Given the description of an element on the screen output the (x, y) to click on. 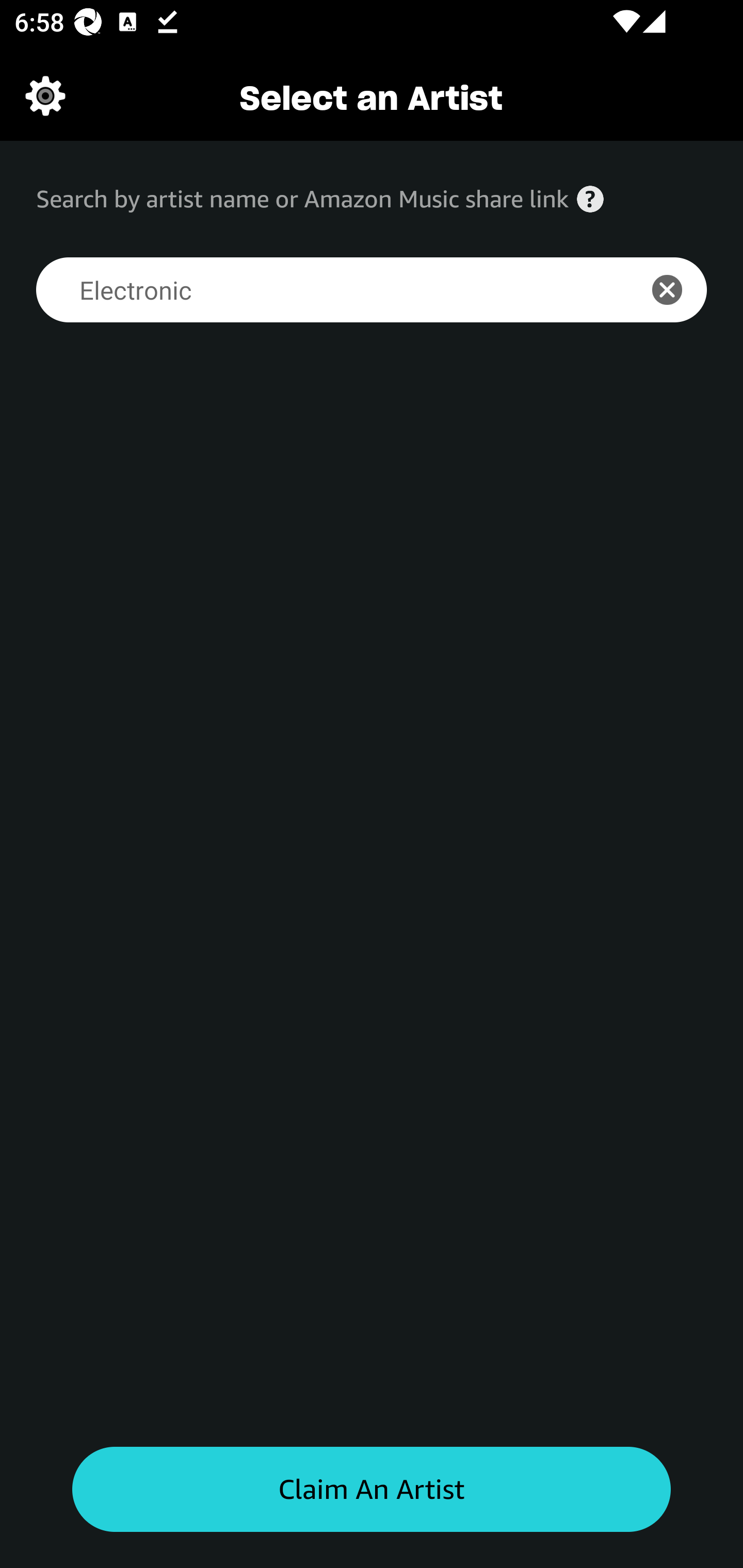
Help  icon (589, 199)
Electronic Search for an artist search bar (324, 290)
 icon (677, 290)
Claim an artist button Claim An Artist (371, 1489)
